Given the description of an element on the screen output the (x, y) to click on. 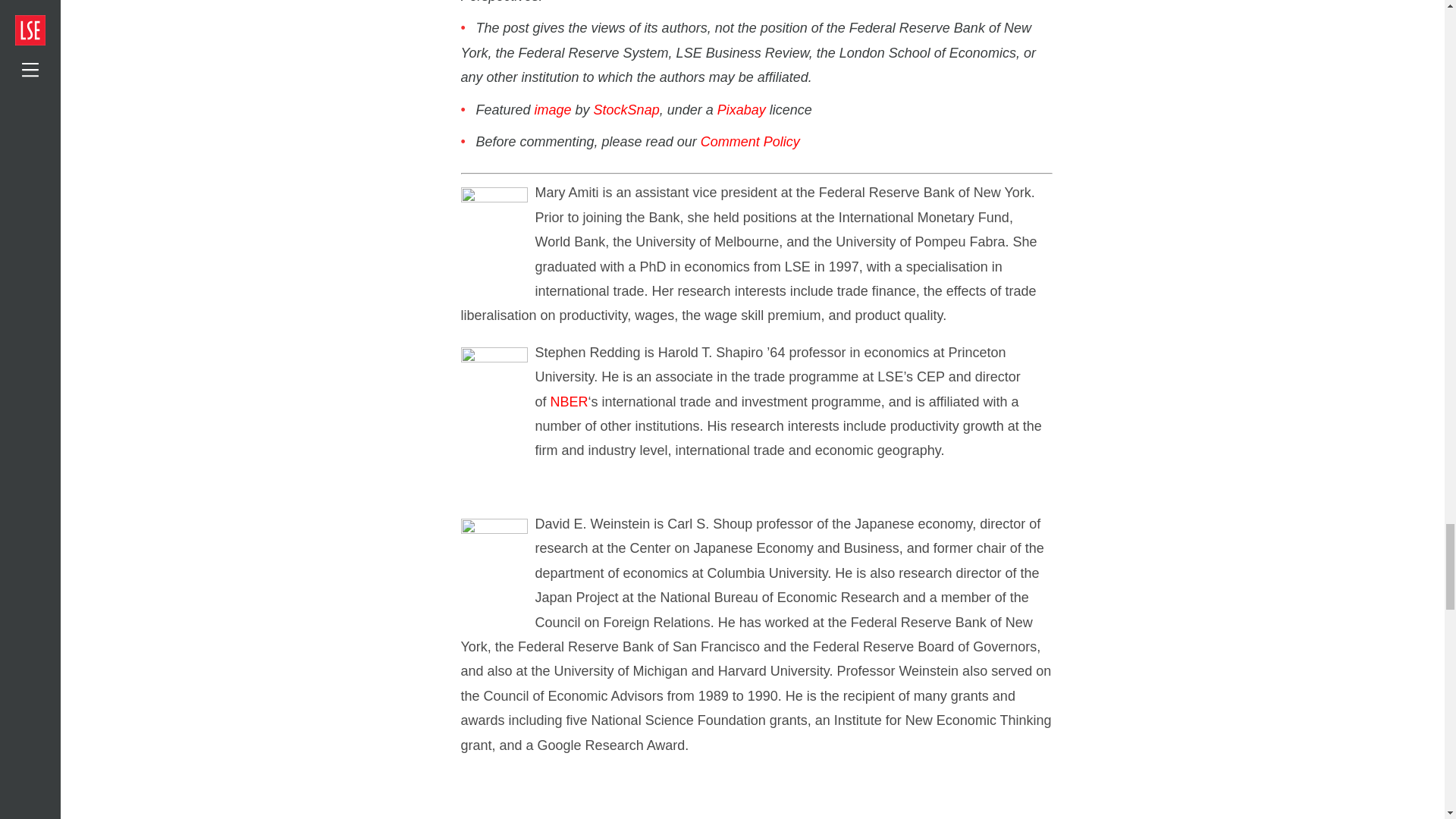
Pixabay (741, 109)
Comment Policy (749, 141)
StockSnap (626, 109)
image (553, 109)
NBER (569, 401)
